Given the description of an element on the screen output the (x, y) to click on. 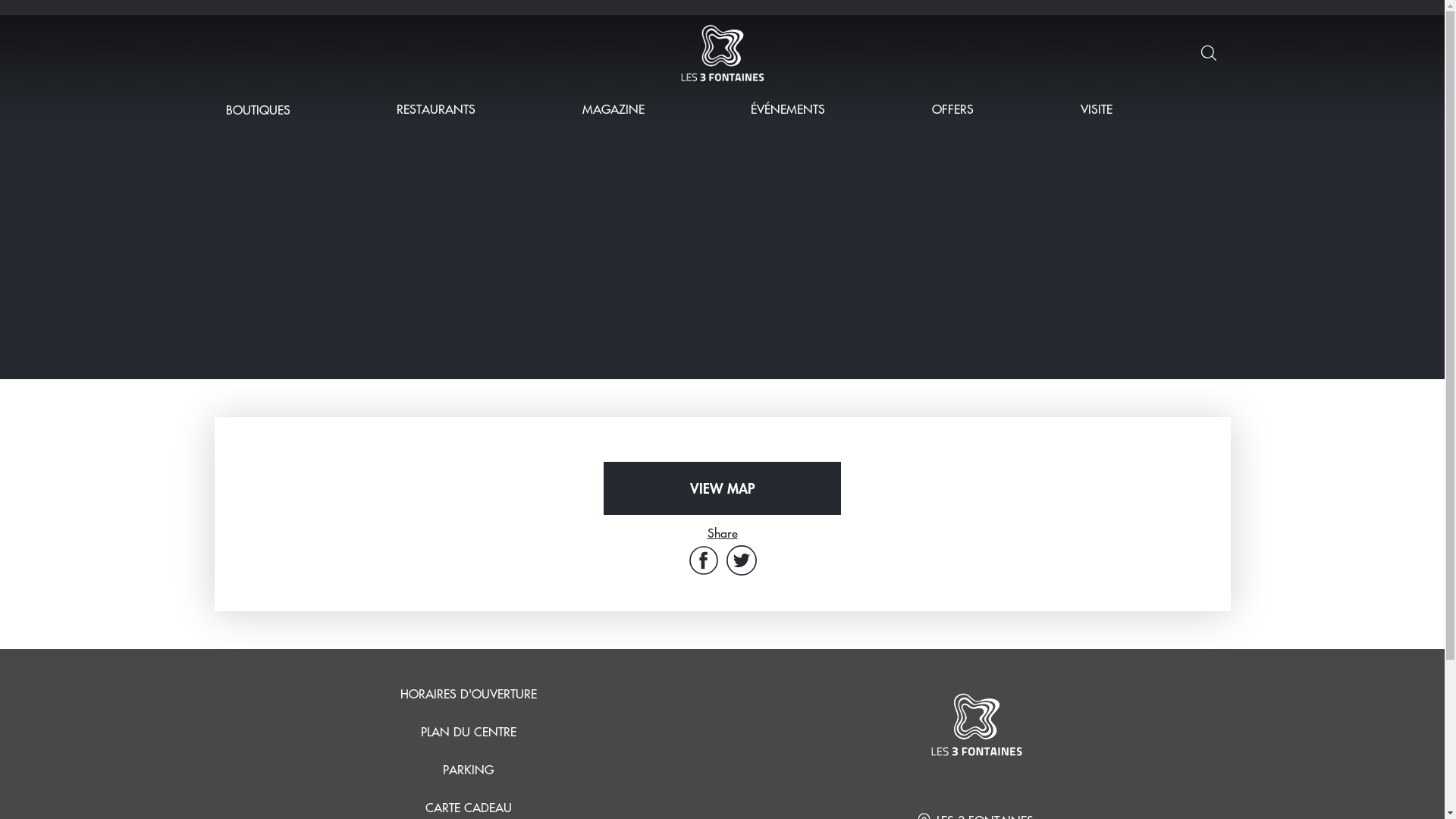
PARKING Element type: text (467, 769)
HORAIRES D'OUVERTURE Element type: text (468, 693)
VISITE Element type: text (1096, 108)
RESTAURANTS Element type: text (435, 108)
MAGAZINE Element type: text (613, 108)
VIEW MAP Element type: text (721, 487)
BOUTIQUES Element type: text (257, 109)
PLAN DU CENTRE Element type: text (467, 731)
OFFERS Element type: text (952, 108)
